Given the description of an element on the screen output the (x, y) to click on. 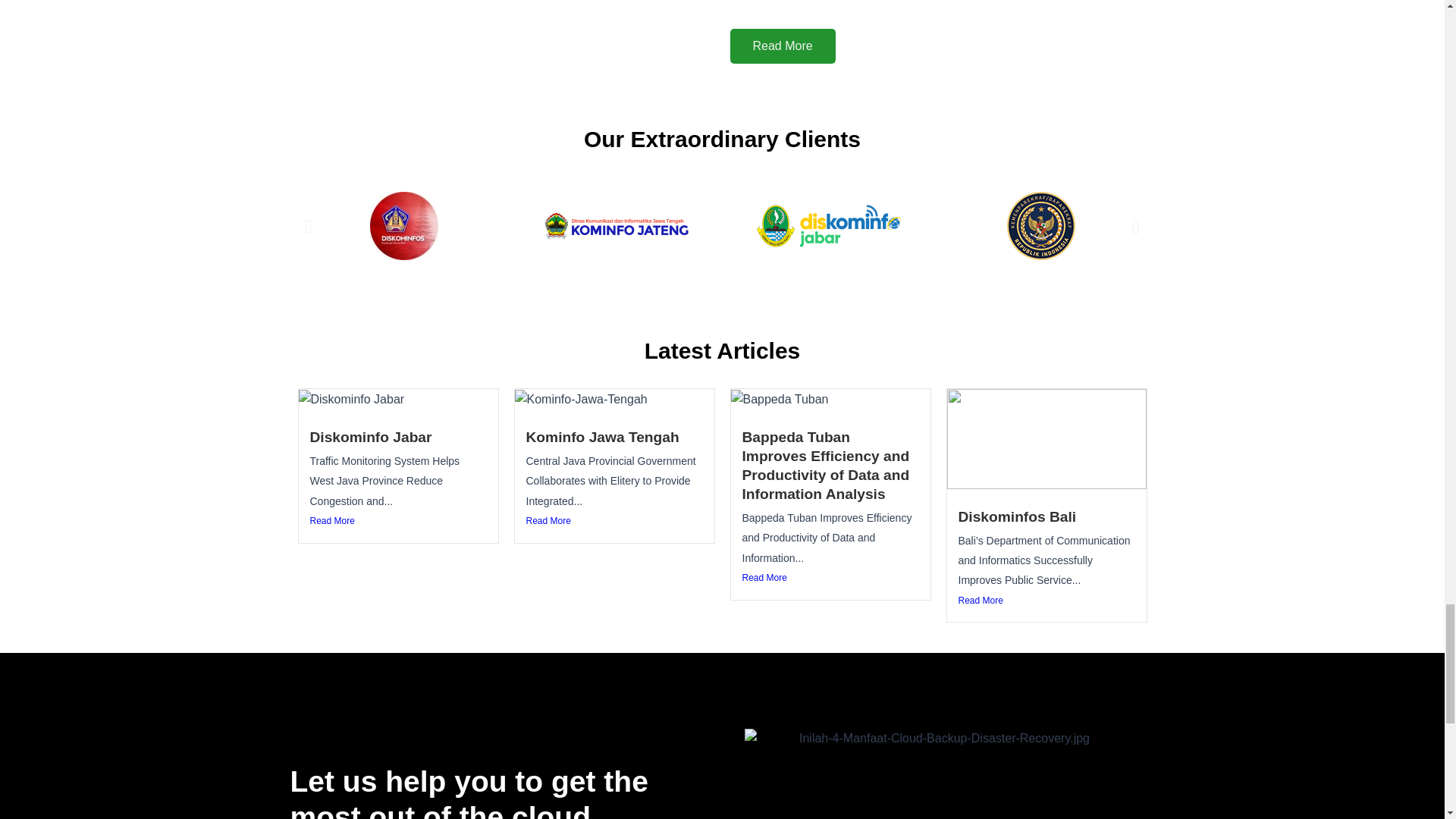
Diskominfo Jabar (369, 437)
Kominfo Jawa Tengah (602, 437)
Diskominfos Bali (1017, 516)
